Given the description of an element on the screen output the (x, y) to click on. 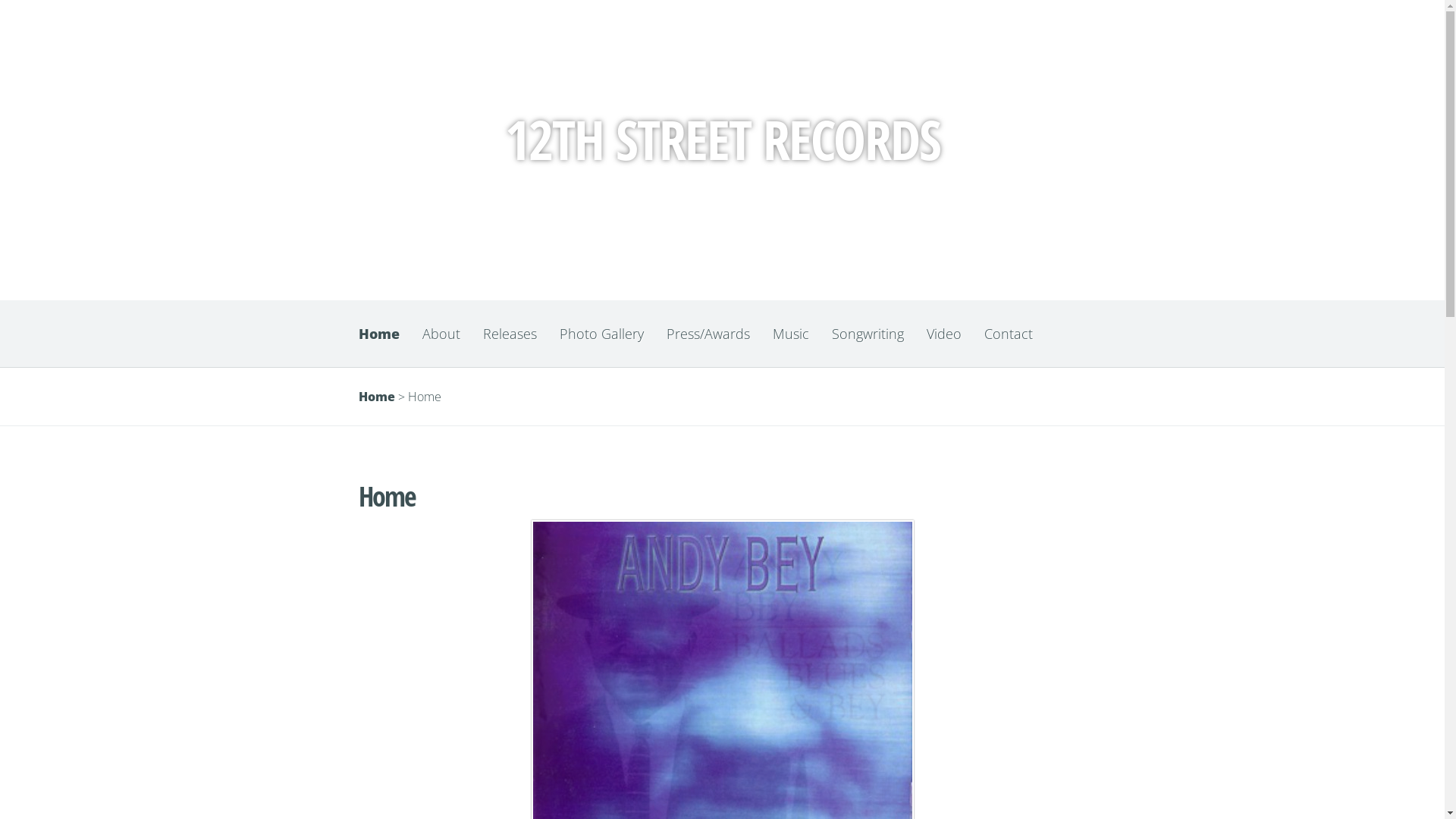
Songwriting Element type: text (867, 333)
About Element type: text (441, 333)
Video Element type: text (943, 333)
Home Element type: text (383, 333)
Contact Element type: text (1007, 333)
Releases Element type: text (509, 333)
Music Element type: text (790, 333)
Home Element type: text (375, 396)
Photo Gallery Element type: text (600, 333)
Press/Awards Element type: text (708, 333)
